Given the description of an element on the screen output the (x, y) to click on. 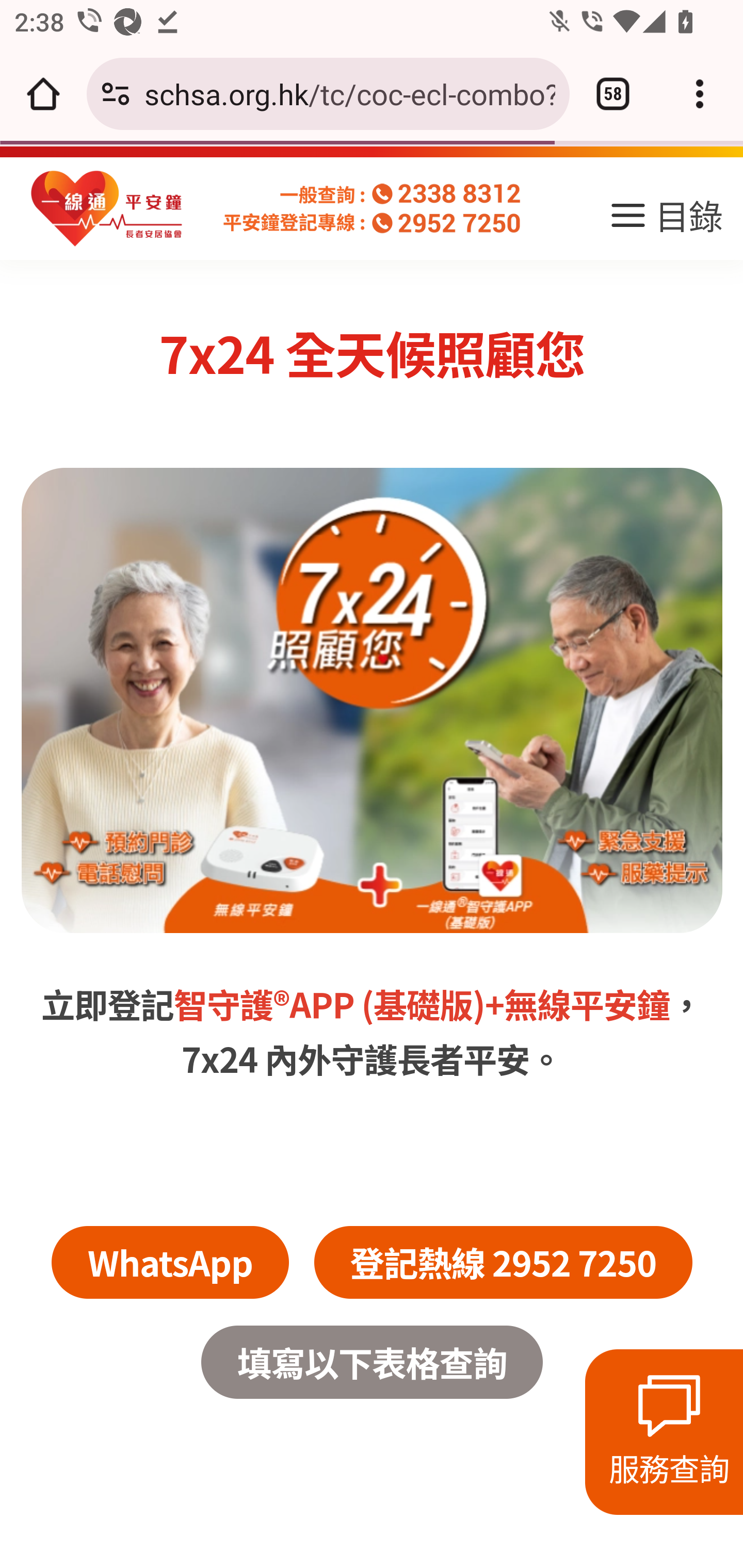
Open the home page (43, 93)
Connection is secure (115, 93)
Switch or close tabs (612, 93)
Customize and control Google Chrome (699, 93)
homepage (107, 209)
智守護® (231, 581)
APP (基礎版)+ APP ( 基礎版 )+ (397, 581)
無線平安鐘 (586, 581)
WhatsApp (169, 840)
登記熱線 2952 7250 (502, 840)
填寫以下表格查詢 (371, 940)
